Given the description of an element on the screen output the (x, y) to click on. 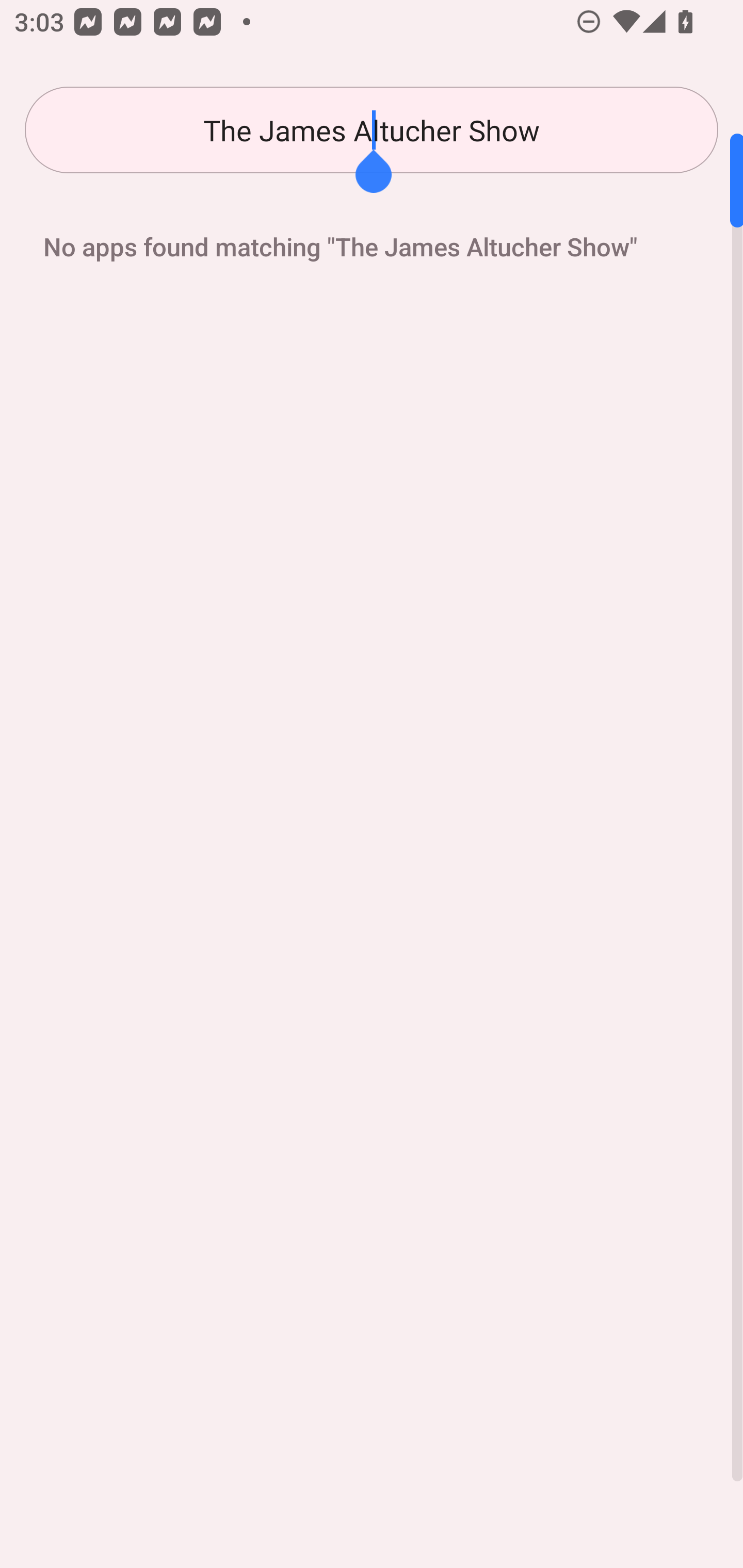
The James Altucher Show (371, 130)
